Given the description of an element on the screen output the (x, y) to click on. 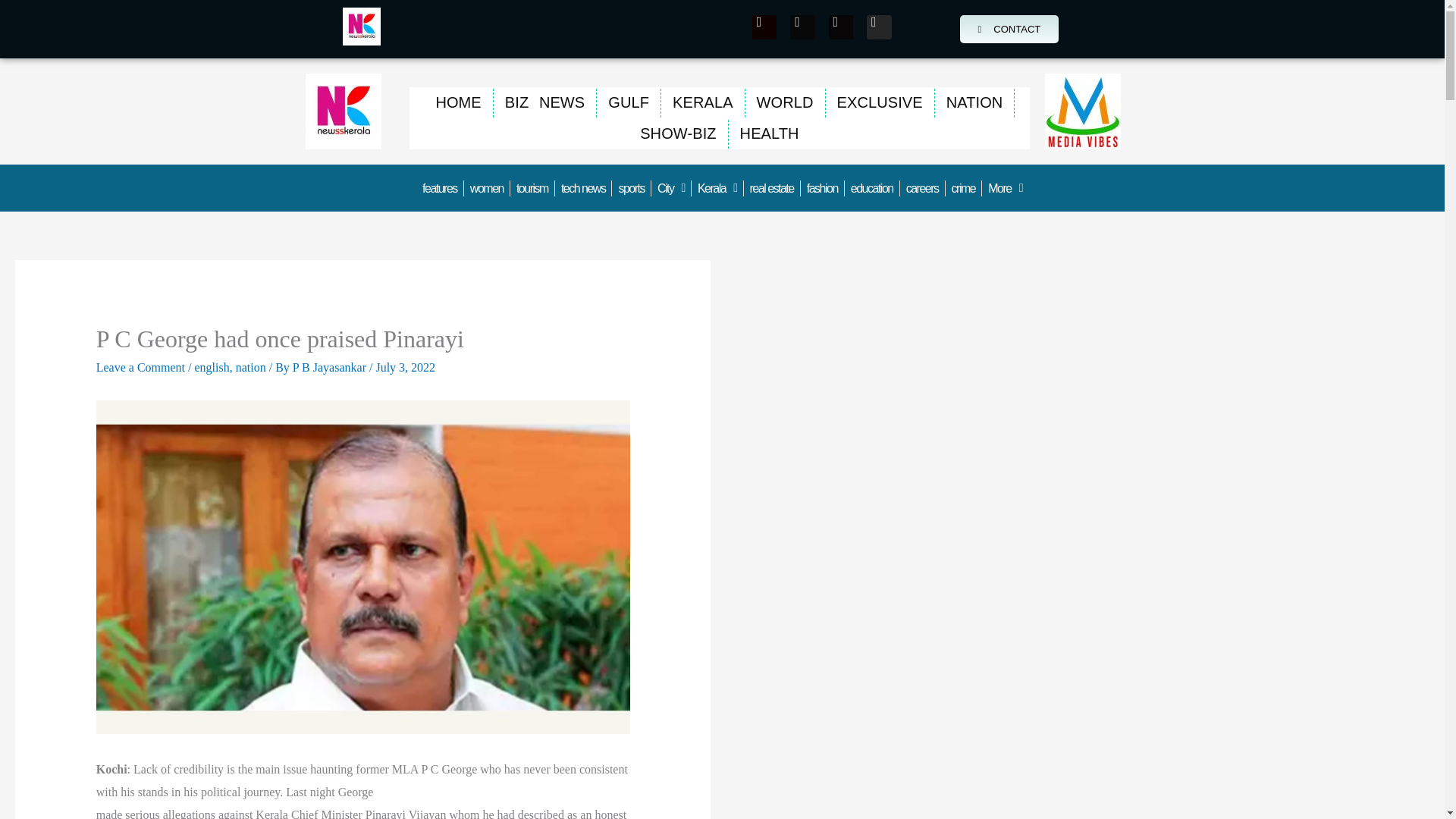
NATION (974, 101)
EXCLUSIVE (879, 101)
HEALTH (769, 133)
tech news (582, 187)
City (670, 187)
SHOW-BIZ (677, 133)
BIZ NEWS (544, 101)
WhatsApp Image 2023-02-26 at 9.49.20 AM (1083, 111)
WORLD (785, 101)
CONTACT (1009, 29)
